Given the description of an element on the screen output the (x, y) to click on. 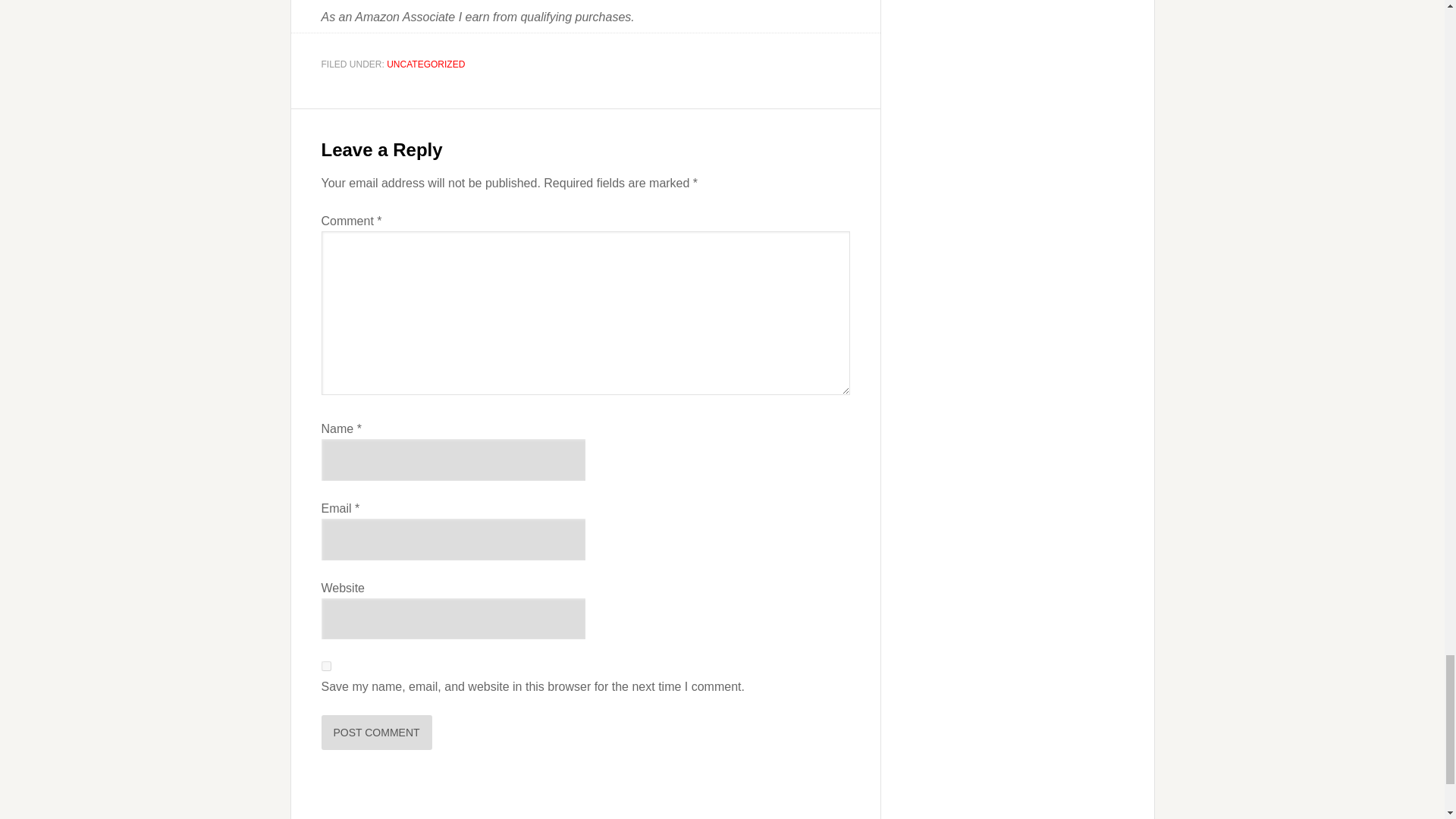
Post Comment (376, 732)
Post Comment (376, 732)
yes (326, 665)
UNCATEGORIZED (425, 63)
